Given the description of an element on the screen output the (x, y) to click on. 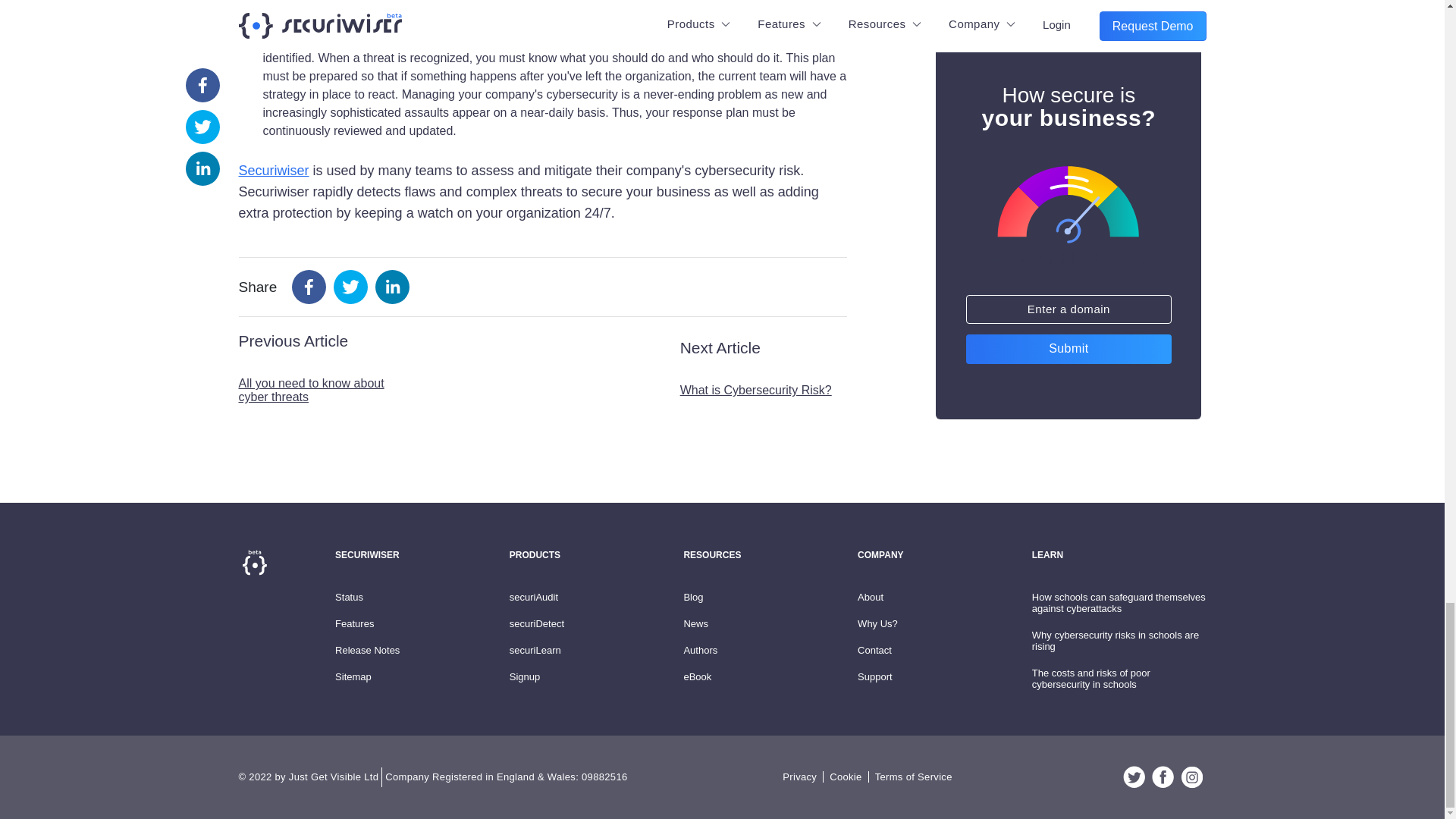
Facebook (1162, 776)
Release Notes (366, 650)
Twitter (1133, 776)
Instagram (1190, 776)
Support (874, 676)
Signup (524, 676)
Status (348, 596)
